Given the description of an element on the screen output the (x, y) to click on. 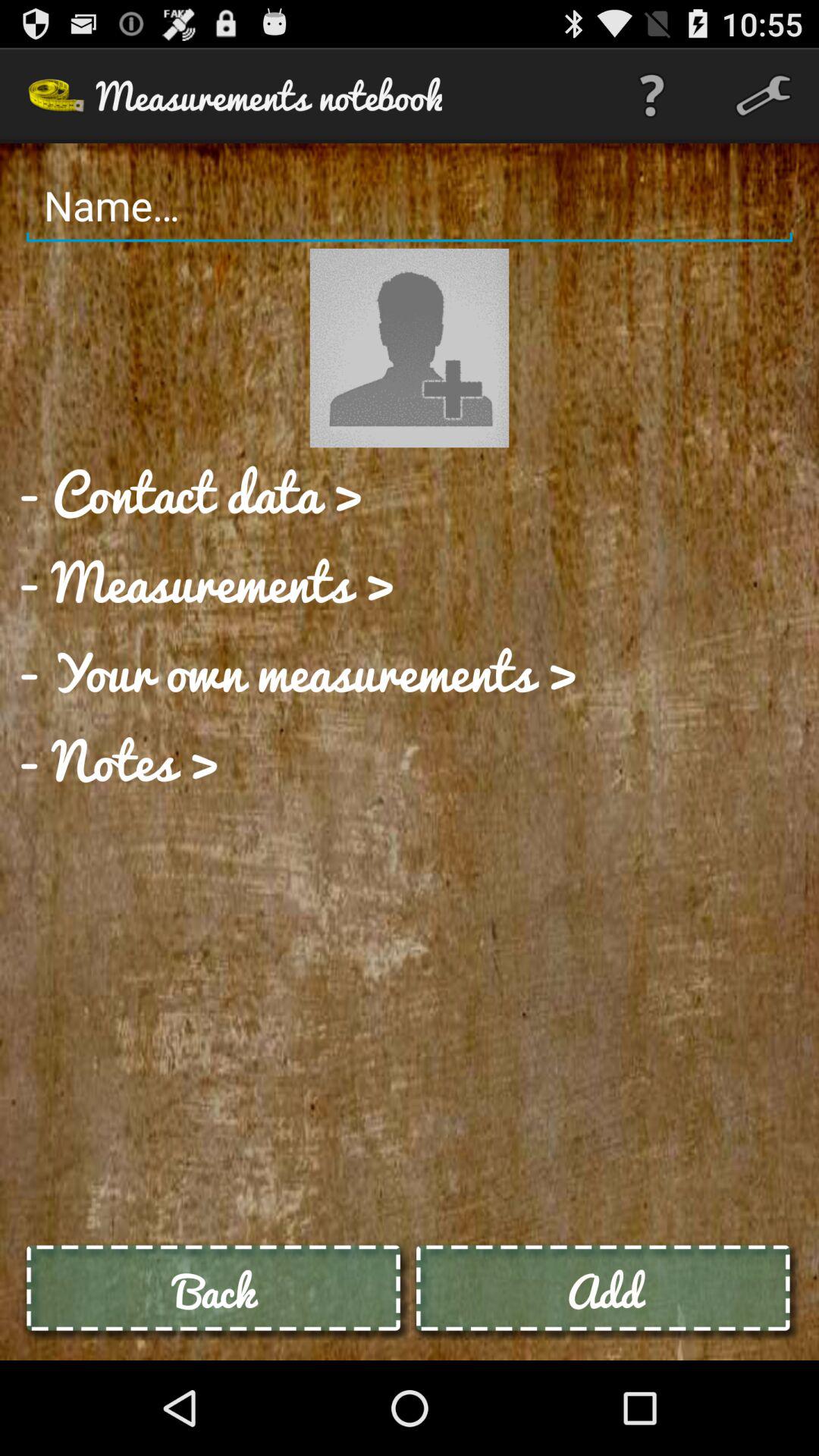
swipe until the - your own measurements > (297, 670)
